Given the description of an element on the screen output the (x, y) to click on. 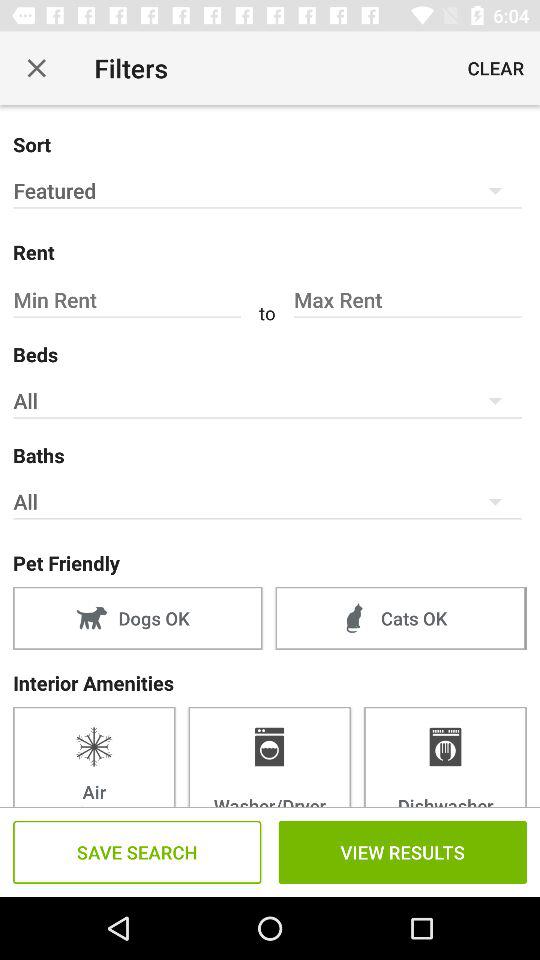
choose item above interior amenities (137, 617)
